Given the description of an element on the screen output the (x, y) to click on. 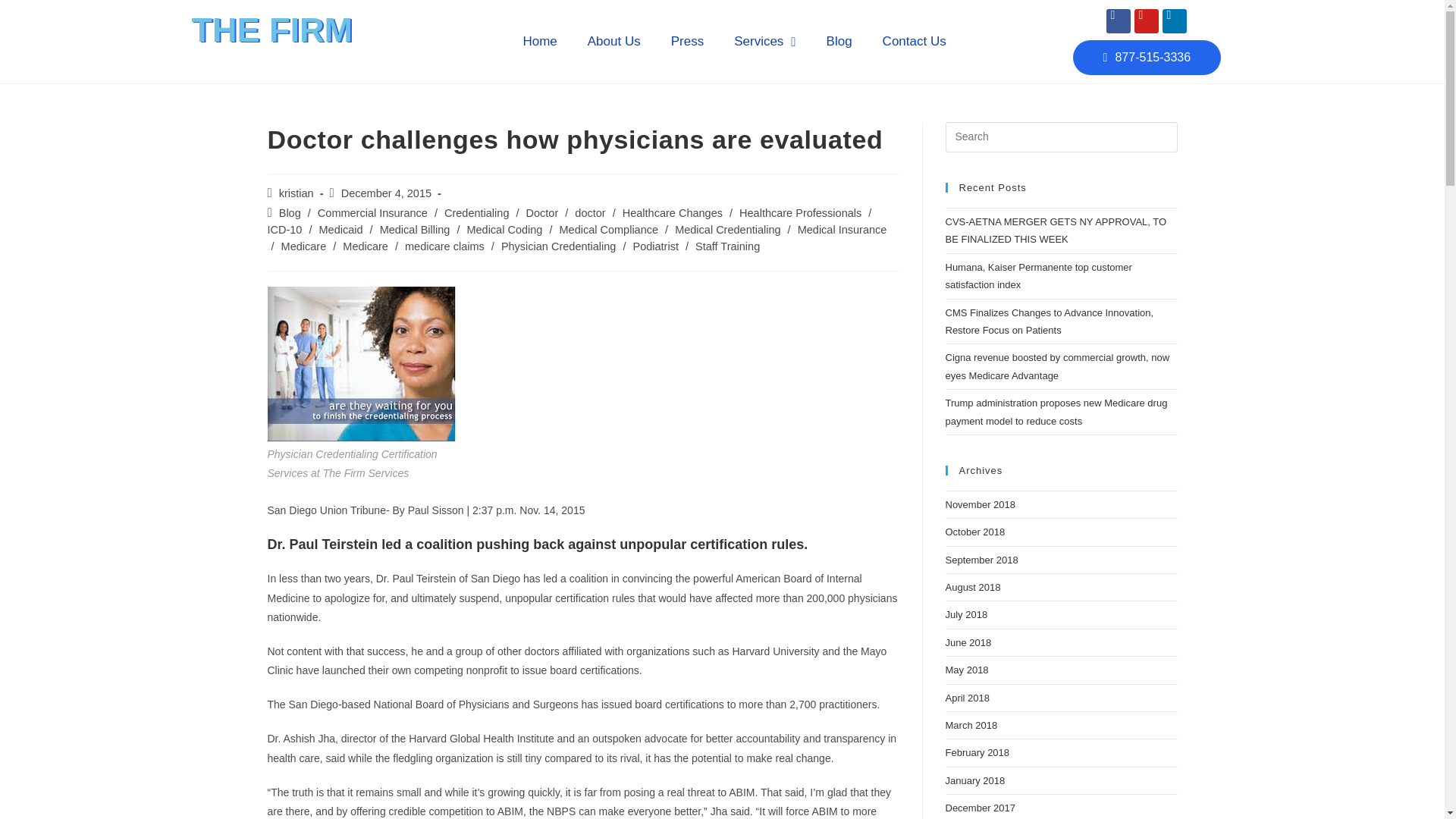
Medical Compliance (608, 229)
Medicare (303, 246)
Medical Insurance (841, 229)
doctor (590, 213)
About Us (614, 41)
Blog (290, 213)
ICD-10 (283, 229)
kristian (296, 193)
Medicaid (340, 229)
Press (687, 41)
